Given the description of an element on the screen output the (x, y) to click on. 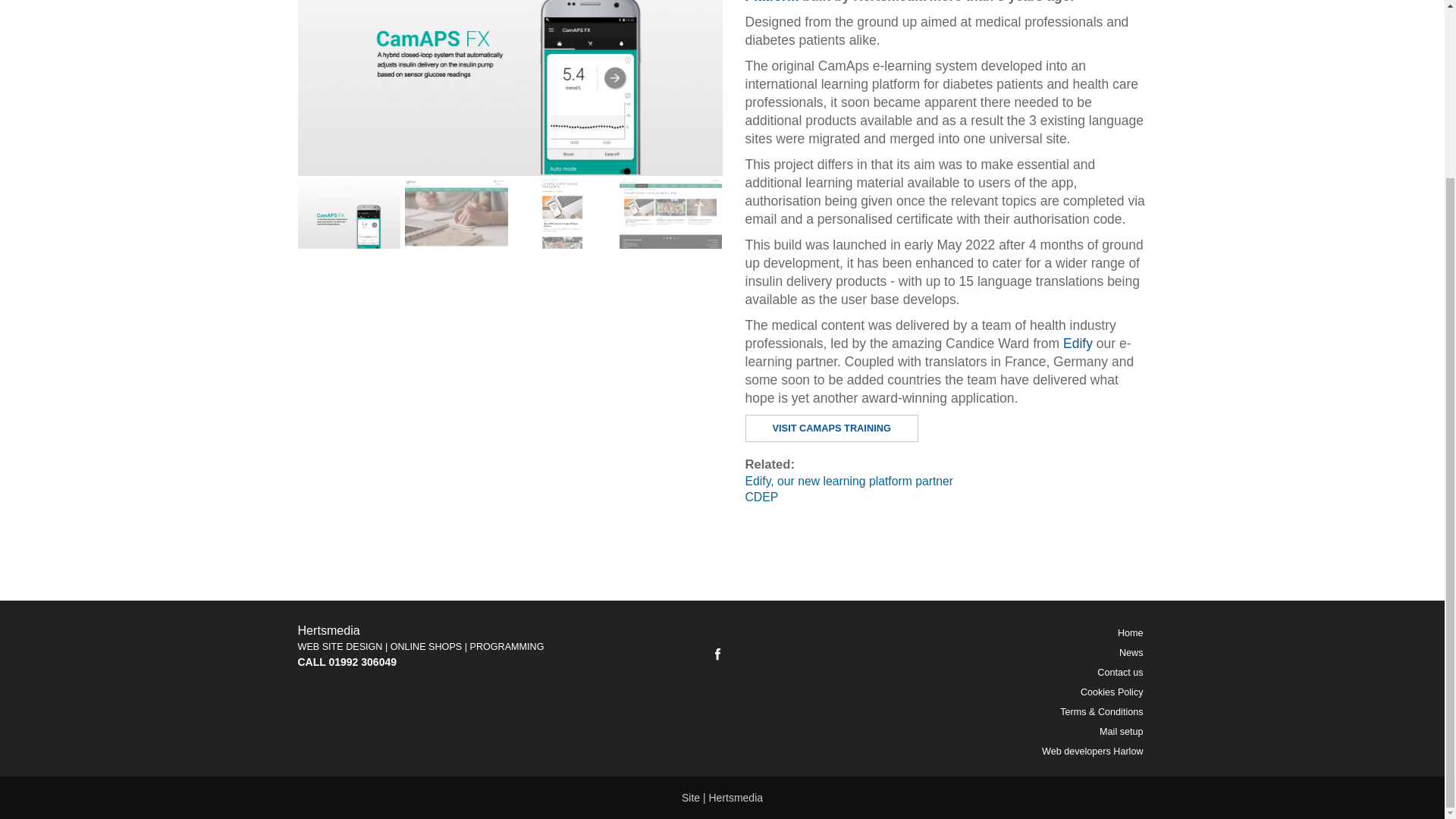
CDEP (945, 497)
News (1006, 652)
Mail setup (1006, 731)
VISIT CAMAPS TRAINING (830, 428)
CDEP E-Learning Platform (921, 2)
Home (1006, 632)
facebook (717, 653)
CALL 01992 306049 (346, 662)
Contact us (1006, 672)
Edify (1079, 343)
Cookies Policy (1006, 691)
Edify, our new learning platform partner (945, 481)
Web developers Harlow (1006, 751)
